Given the description of an element on the screen output the (x, y) to click on. 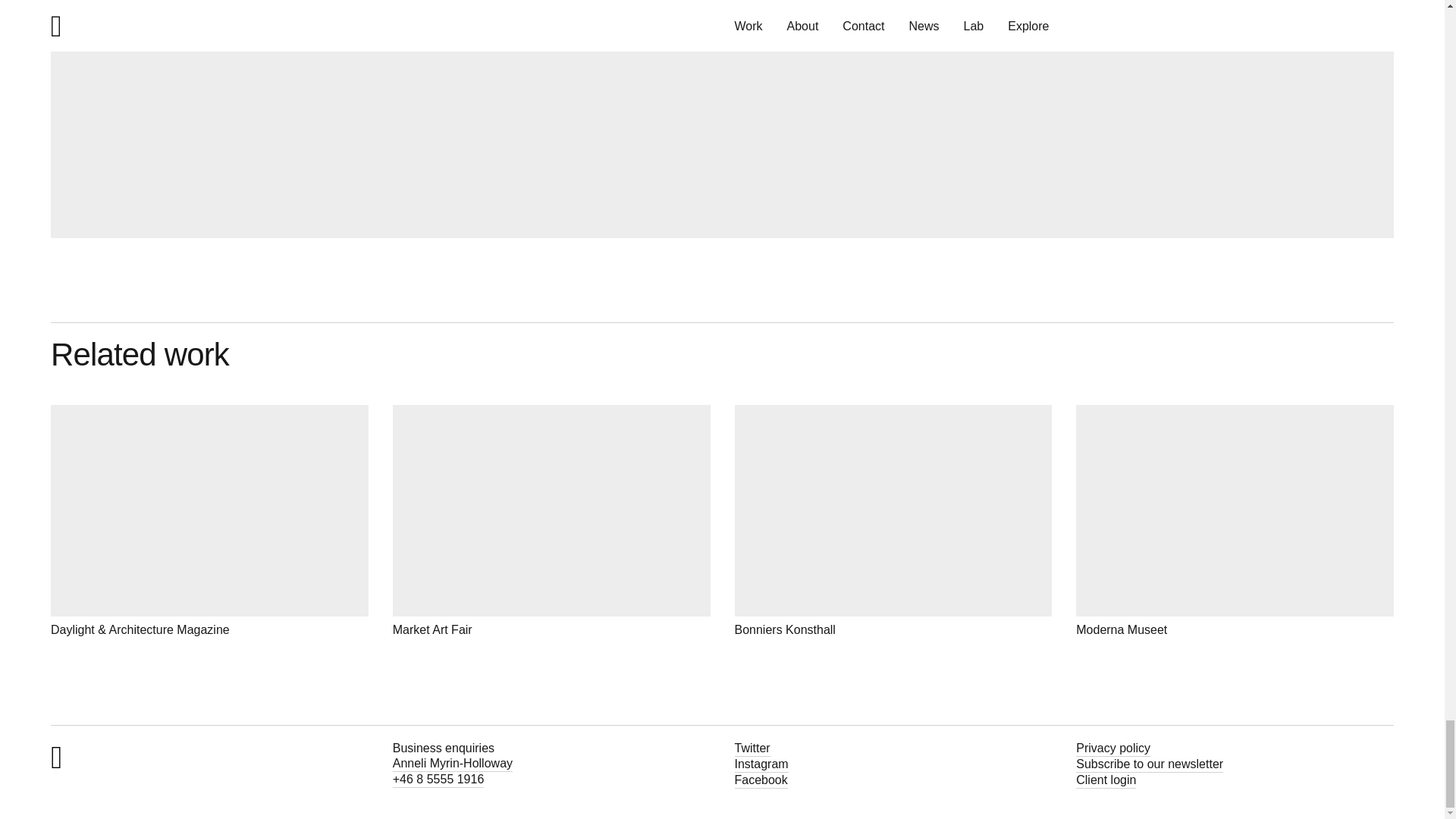
Client login (1105, 780)
Bonniers Konsthall (892, 521)
Market Art Fair (551, 521)
Subscribe to our newsletter (1149, 764)
Facebook (760, 780)
Twitter (751, 748)
Privacy policy (1112, 748)
Anneli Myrin-Holloway (452, 763)
Instagram (760, 764)
Moderna Museet (1234, 521)
